Given the description of an element on the screen output the (x, y) to click on. 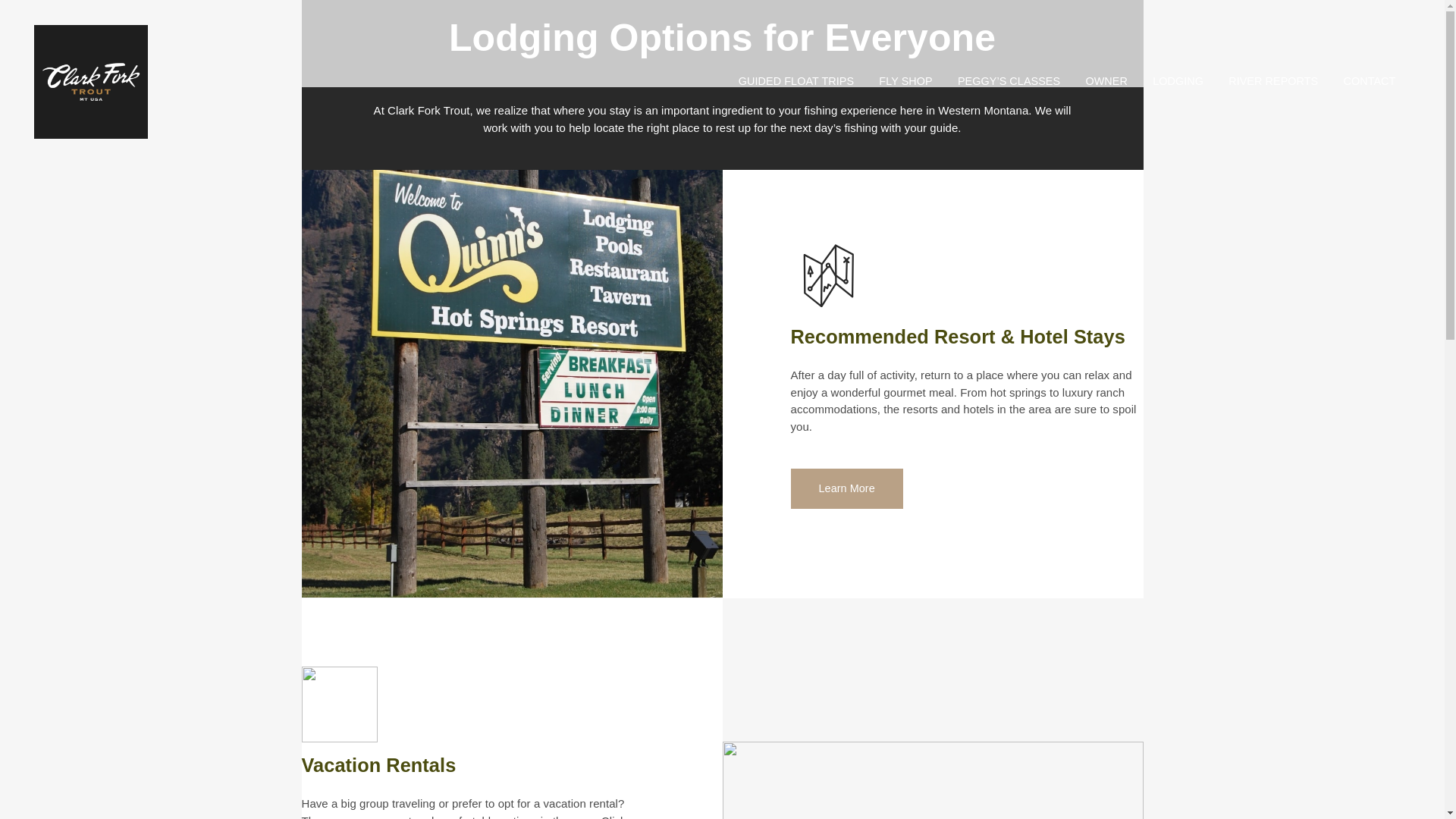
GUIDED FLOAT TRIPS (795, 81)
OWNER (1106, 81)
LODGING (1177, 81)
CONTACT (1369, 81)
RIVER REPORTS (1273, 81)
FLY SHOP (905, 81)
